Given the description of an element on the screen output the (x, y) to click on. 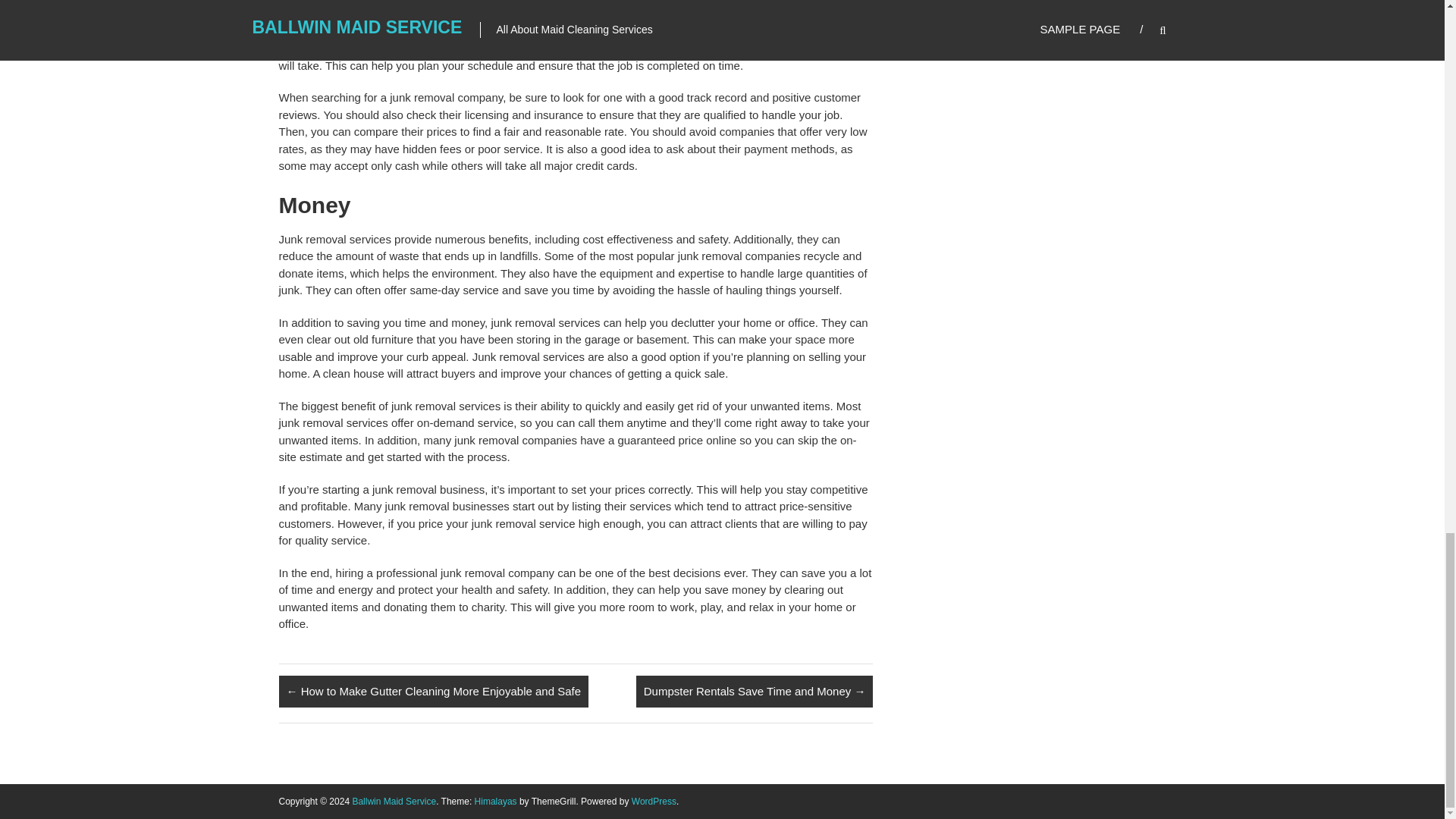
Himalayas (495, 801)
Ballwin Maid Service (393, 801)
WordPress (654, 801)
Himalayas (495, 801)
WordPress (654, 801)
Ballwin Maid Service (393, 801)
